Given the description of an element on the screen output the (x, y) to click on. 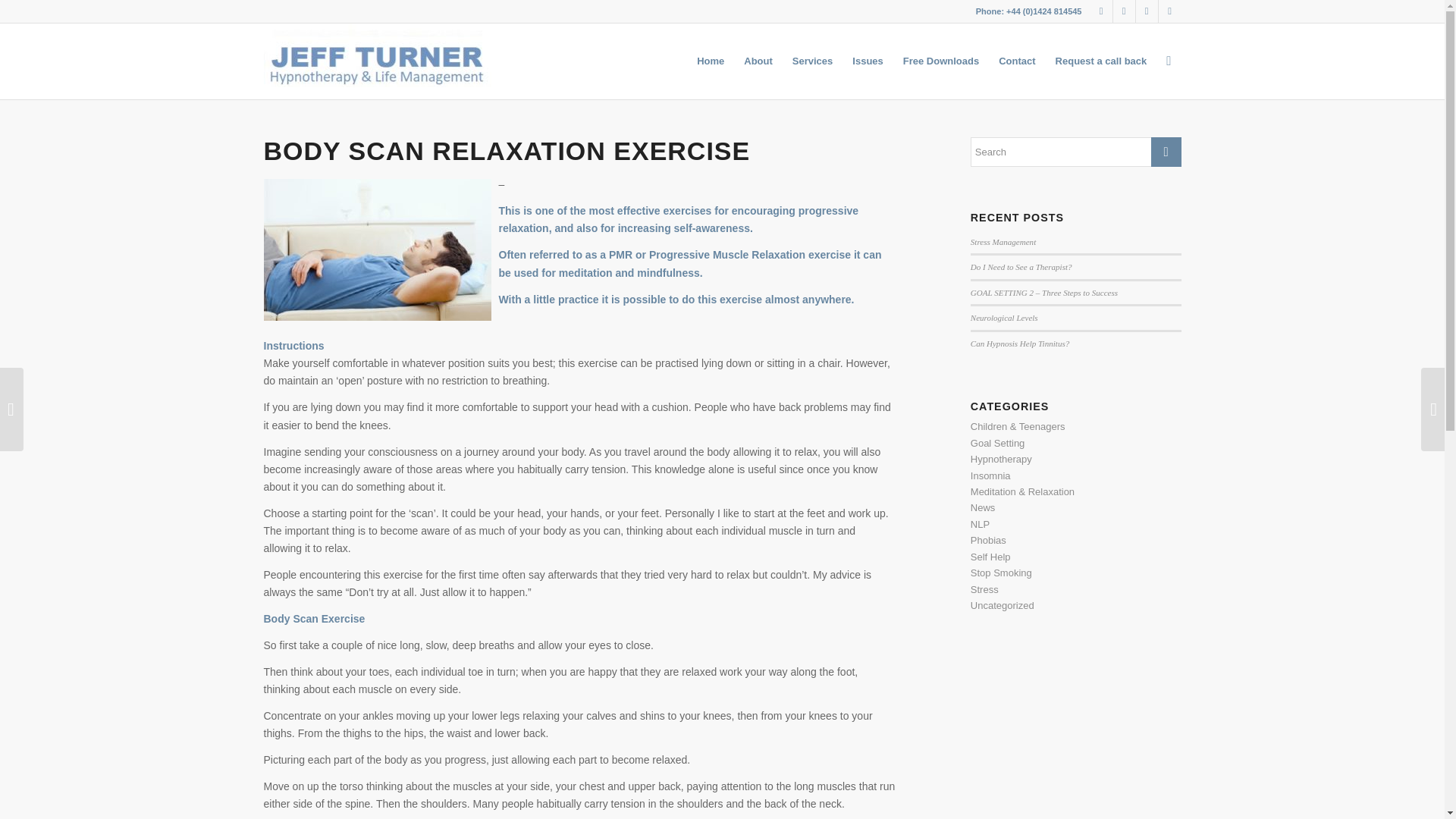
Stress (984, 589)
Request a call back (1101, 61)
Twitter (1124, 11)
Facebook (1101, 11)
Can Hypnosis Help Tinnitus? (1019, 343)
Hypnotherapy (1001, 459)
Goal Setting (998, 442)
Stop Smoking (1001, 572)
Self Help (990, 556)
Do I Need to See a Therapist? (1021, 266)
Phobias (988, 540)
Neurological Levels (1004, 317)
News (983, 507)
Free Downloads (940, 61)
Skype (1146, 11)
